Given the description of an element on the screen output the (x, y) to click on. 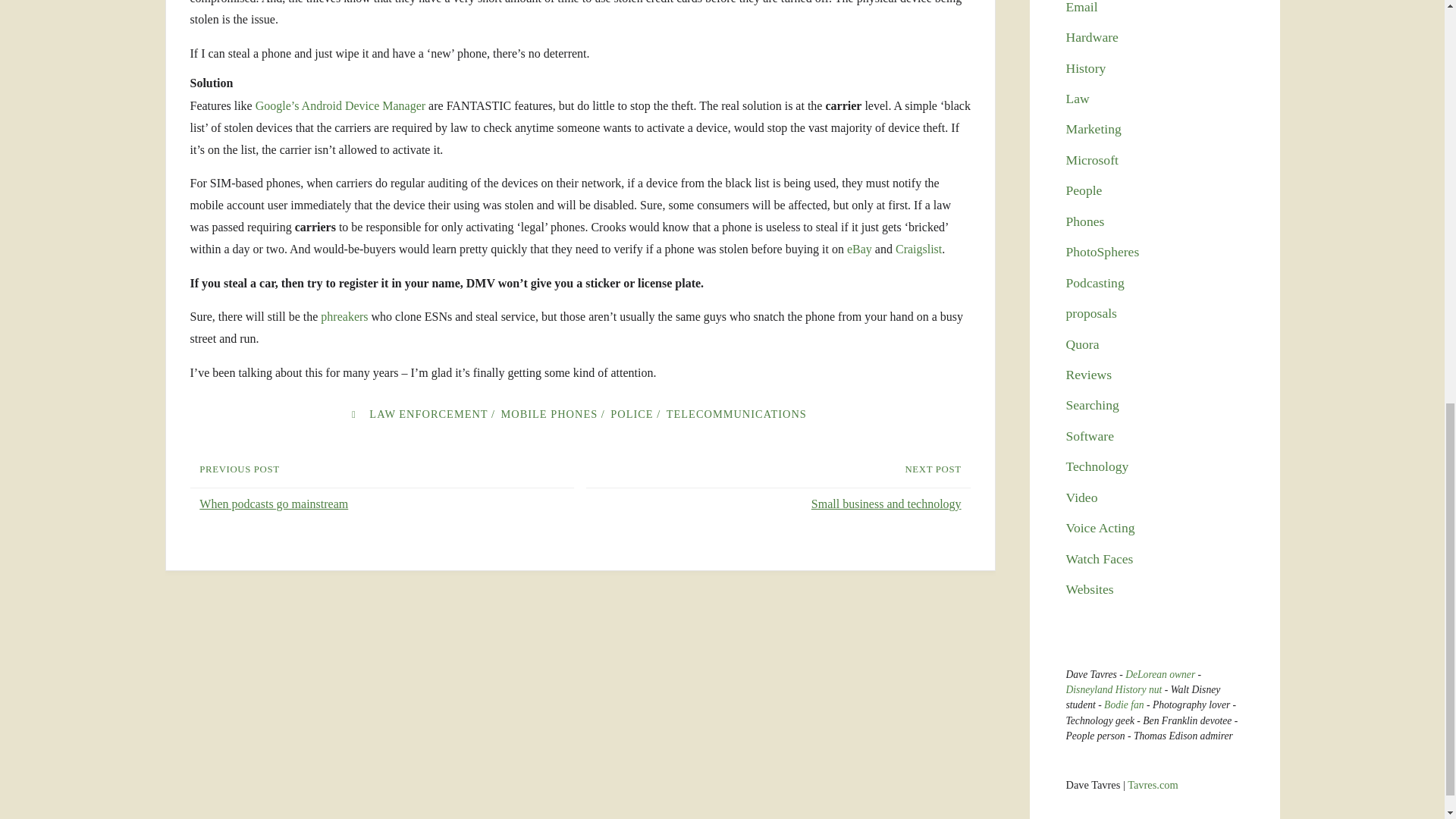
Podcasting (1094, 282)
Email (1081, 7)
Watch Faces (1099, 558)
Disneyland History nut (1113, 689)
Microsoft (1091, 159)
Websites (1089, 589)
Hardware (1091, 37)
Phones (1085, 221)
Voice Acting (1100, 527)
Reviews (1088, 374)
People (1083, 190)
Software (1090, 435)
Searching (1092, 404)
Marketing (1093, 128)
Tagged (353, 413)
